Given the description of an element on the screen output the (x, y) to click on. 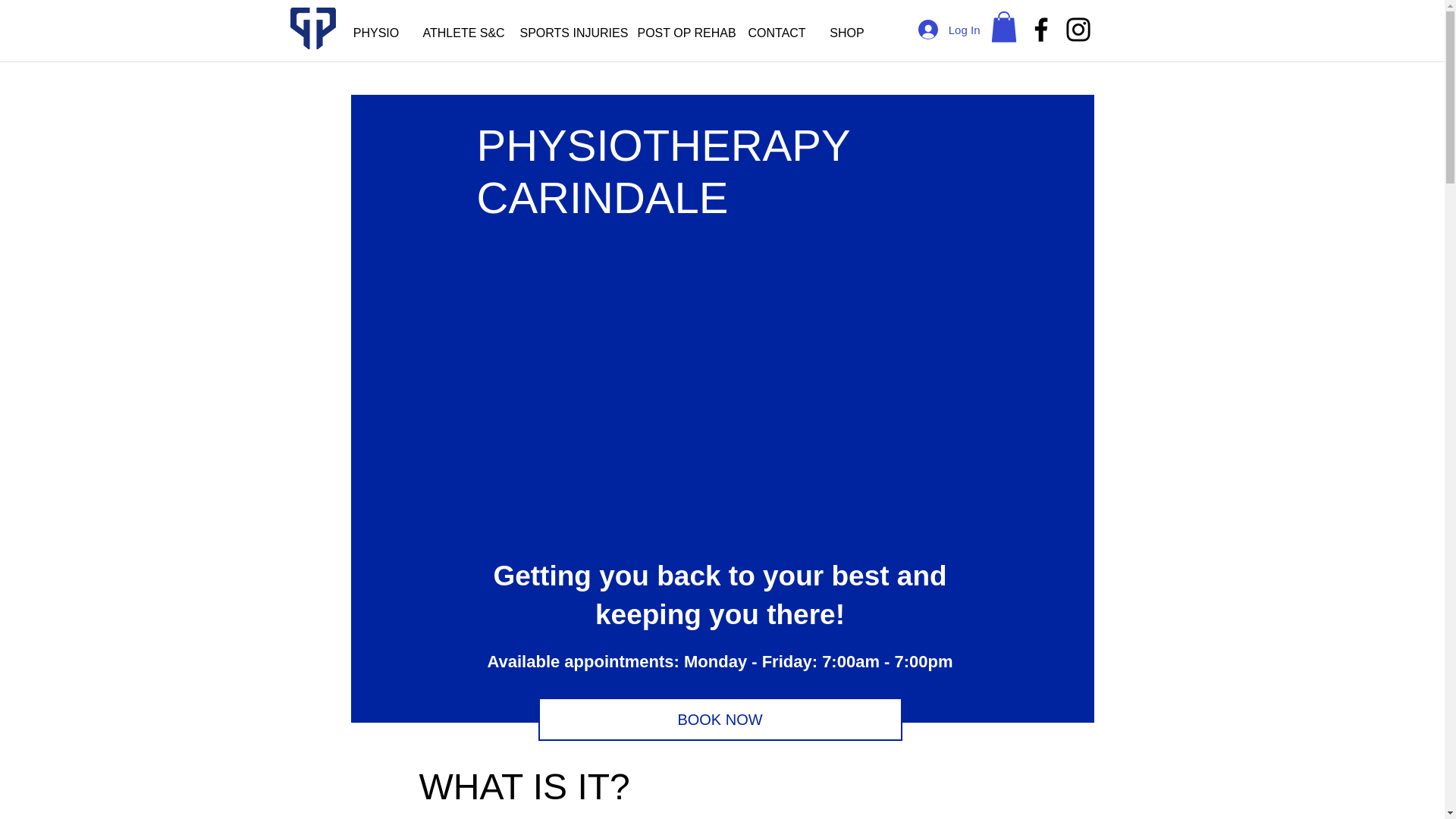
PHYSIO (376, 33)
CONTACT (776, 33)
Log In (949, 29)
SPORTS INJURIES (567, 33)
BOOK NOW (720, 719)
SHOP (846, 33)
